Given the description of an element on the screen output the (x, y) to click on. 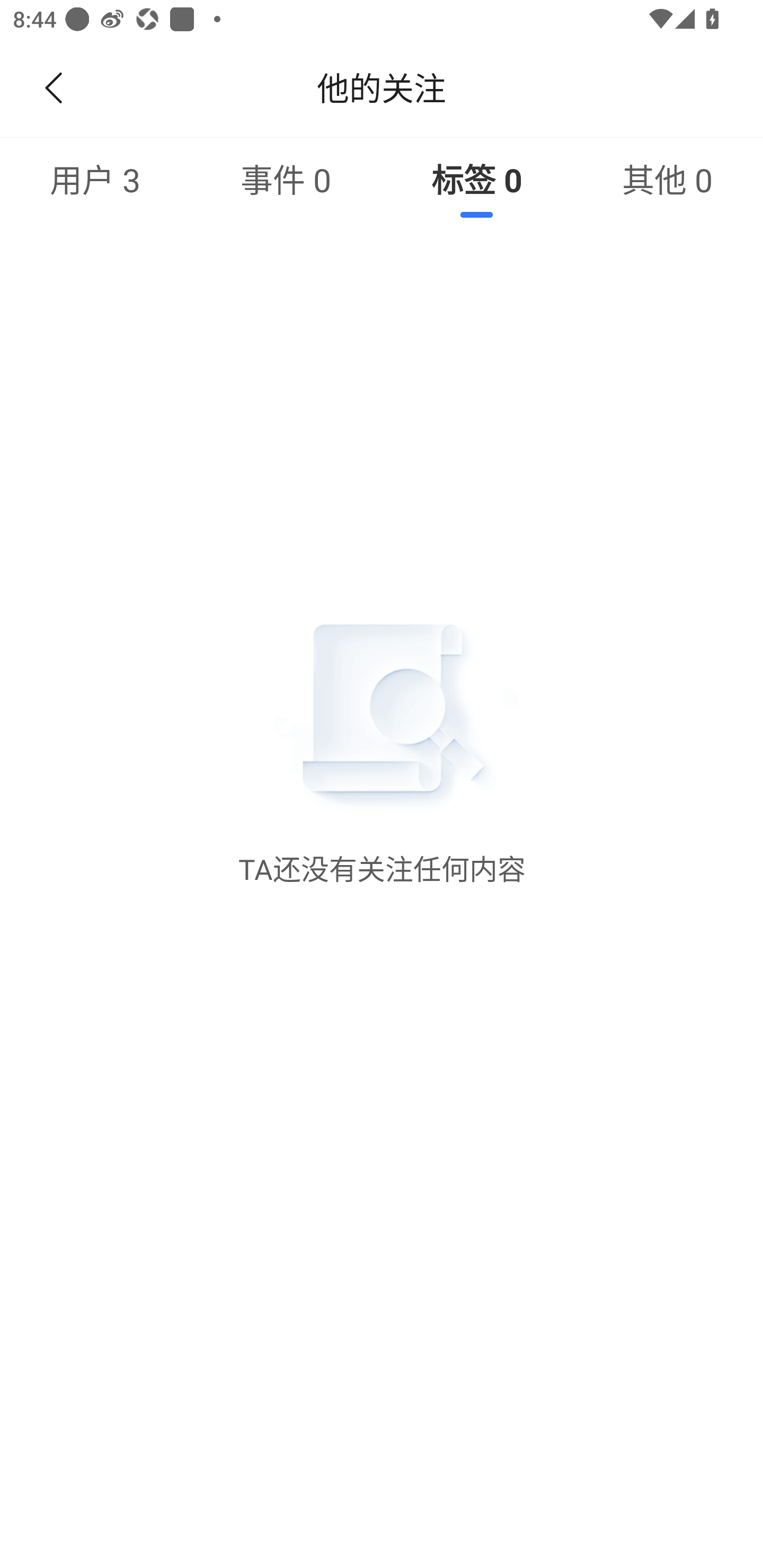
返回，可点击 (49, 87)
用户&nbsp;3，可选中 (95, 179)
事件&nbsp;0，可选中 (285, 179)
已选中标签&nbsp;0 (476, 179)
其他&nbsp;0，可选中 (667, 179)
